Given the description of an element on the screen output the (x, y) to click on. 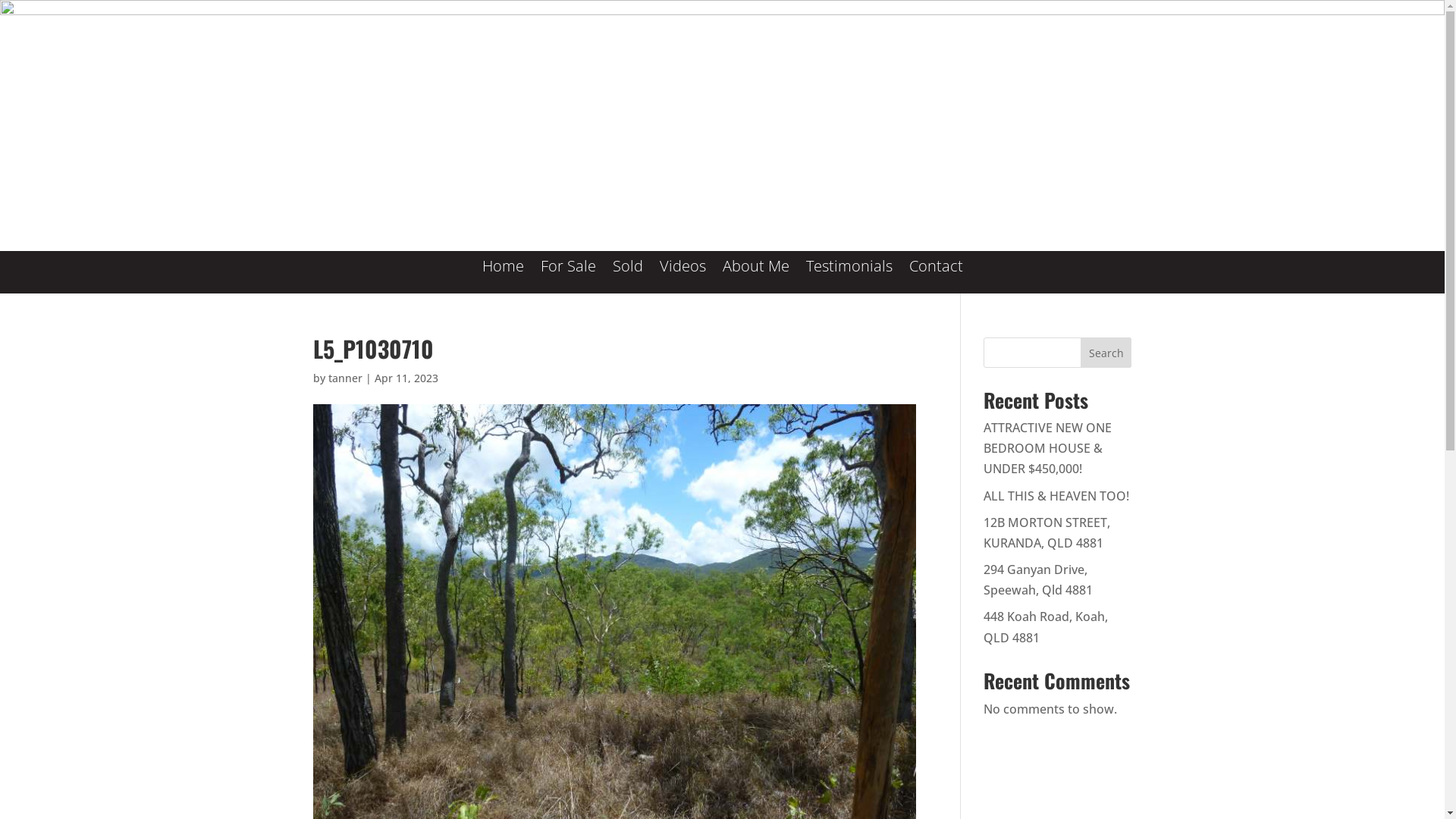
tanner Element type: text (344, 377)
ATTRACTIVE NEW ONE BEDROOM HOUSE & UNDER $450,000! Element type: text (1047, 447)
header Element type: hover (722, 125)
Videos Element type: text (682, 276)
For Sale Element type: text (567, 276)
ALL THIS & HEAVEN TOO! Element type: text (1056, 495)
448 Koah Road, Koah, QLD 4881 Element type: text (1045, 626)
Contact Element type: text (935, 276)
12B MORTON STREET, KURANDA, QLD 4881 Element type: text (1046, 532)
Testimonials Element type: text (848, 276)
Sold Element type: text (627, 276)
294 Ganyan Drive, Speewah, Qld 4881 Element type: text (1037, 579)
Search Element type: text (1106, 352)
Home Element type: text (503, 276)
About Me Element type: text (754, 276)
